Given the description of an element on the screen output the (x, y) to click on. 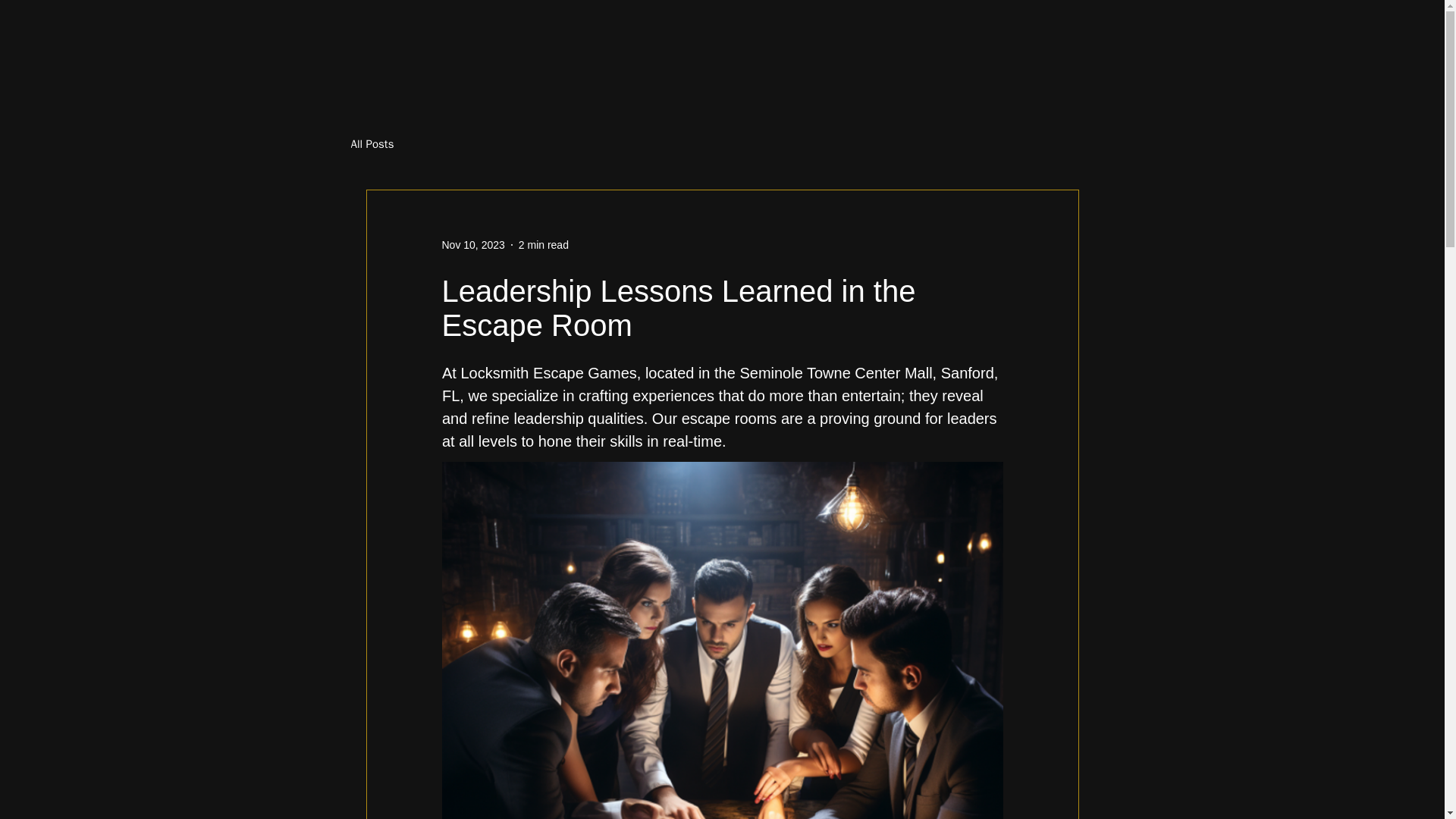
Nov 10, 2023 (472, 244)
2 min read (543, 244)
All Posts (371, 143)
